Given the description of an element on the screen output the (x, y) to click on. 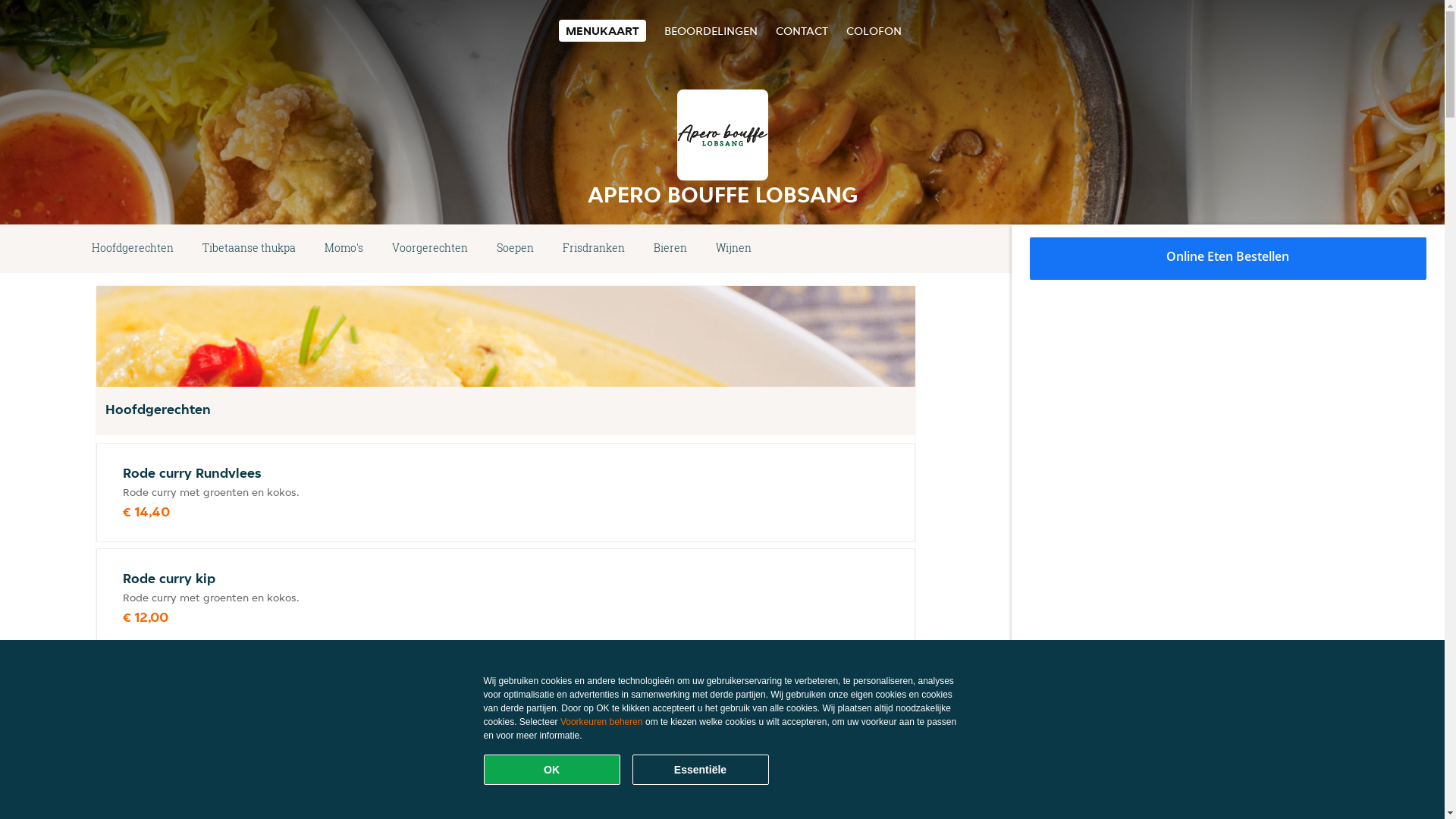
Bieren Element type: text (670, 248)
Hoofdgerechten Element type: text (132, 248)
Voorkeuren beheren Element type: text (601, 721)
Voorgerechten Element type: text (429, 248)
OK Element type: text (551, 769)
Online Eten Bestellen Element type: text (1228, 258)
Soepen Element type: text (515, 248)
BEOORDELINGEN Element type: text (710, 30)
Momo's Element type: text (343, 248)
MENUKAART Element type: text (601, 30)
Frisdranken Element type: text (593, 248)
CONTACT Element type: text (801, 30)
Tibetaanse thukpa Element type: text (249, 248)
COLOFON Element type: text (873, 30)
Wijnen Element type: text (733, 248)
